Given the description of an element on the screen output the (x, y) to click on. 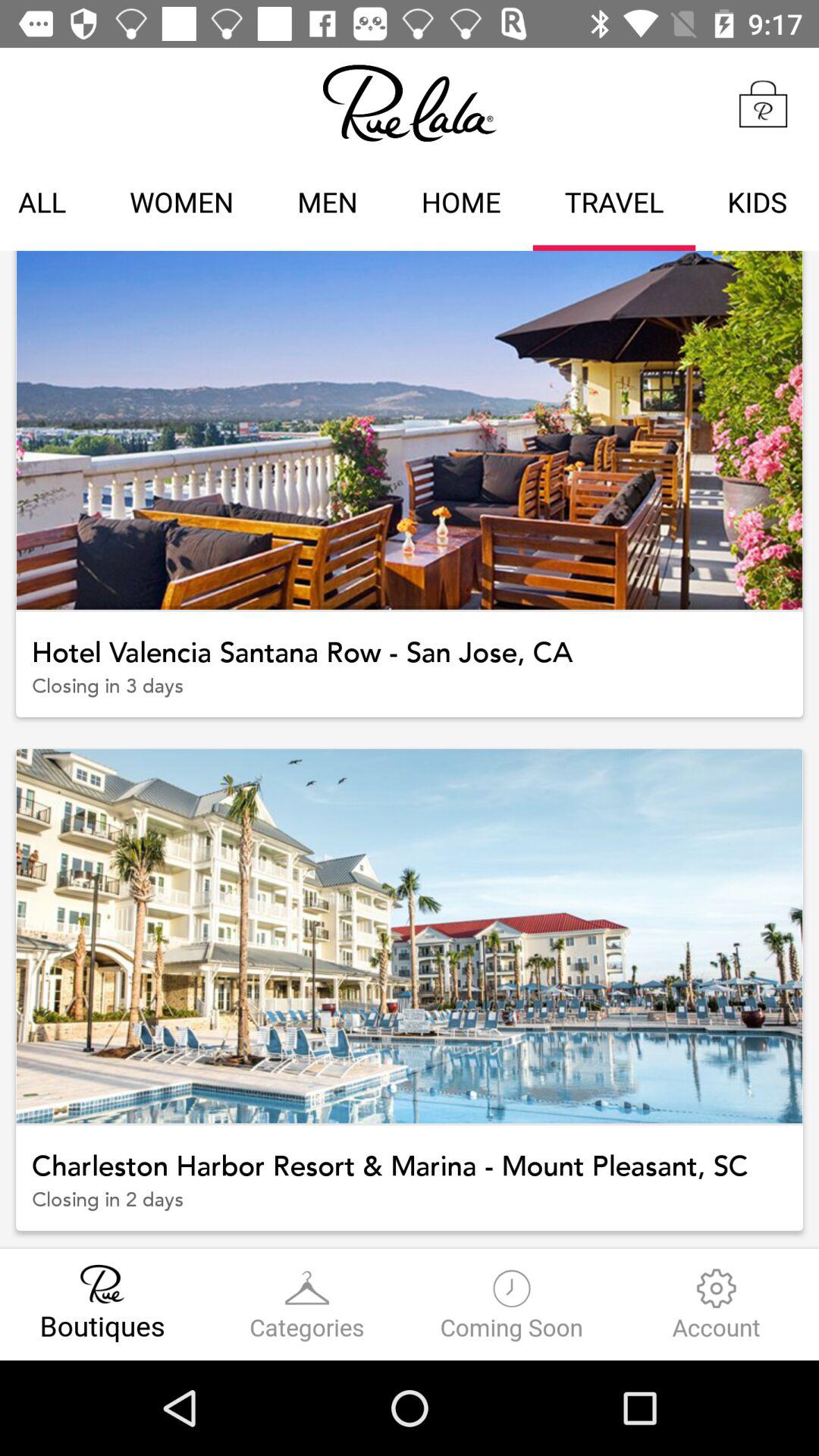
press home icon (460, 204)
